Given the description of an element on the screen output the (x, y) to click on. 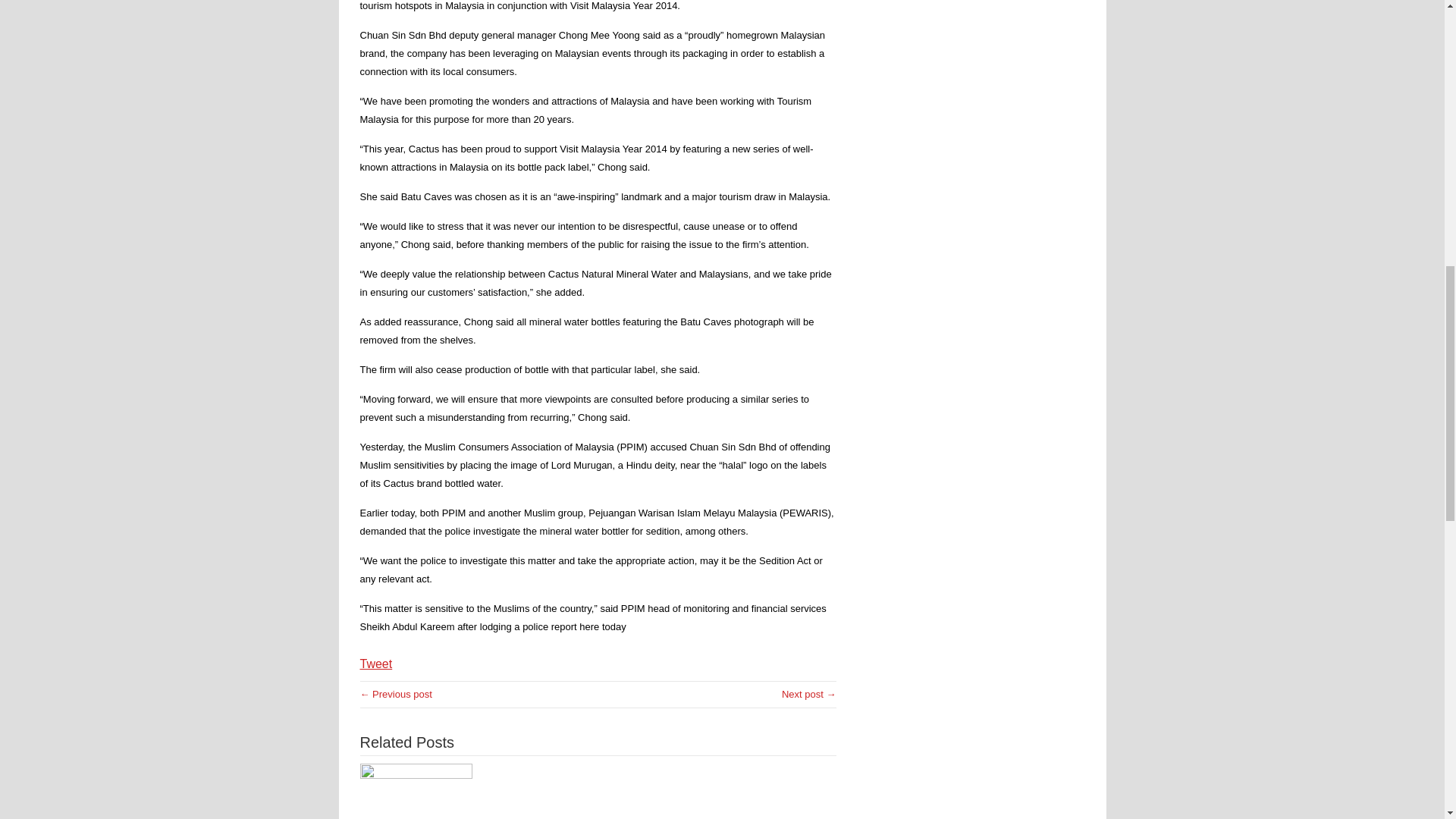
Tweet (375, 663)
